Given the description of an element on the screen output the (x, y) to click on. 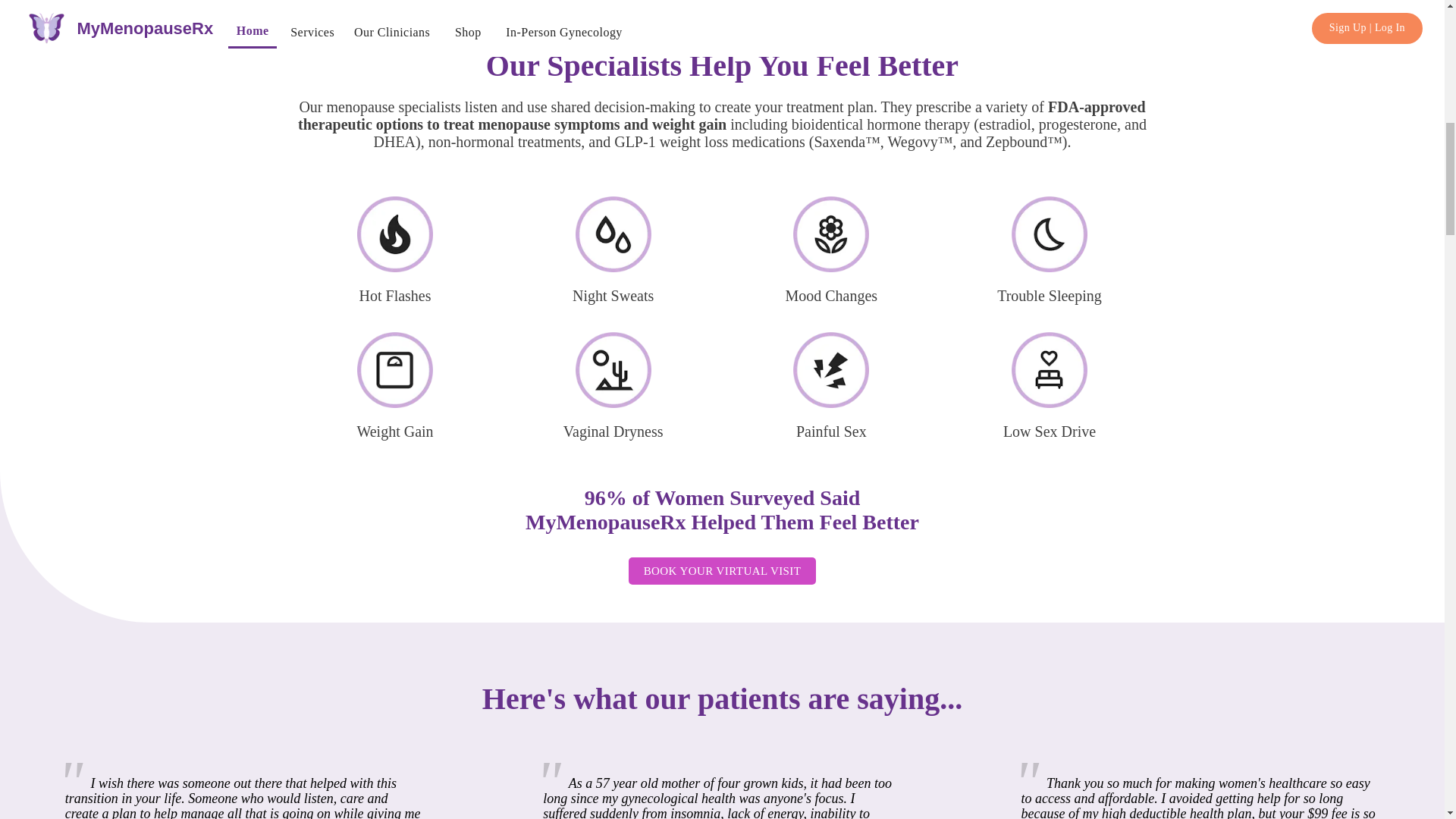
BOOK YOUR VIRTUAL VISIT (722, 570)
BOOK YOUR VIRTUAL VISIT (722, 570)
